Given the description of an element on the screen output the (x, y) to click on. 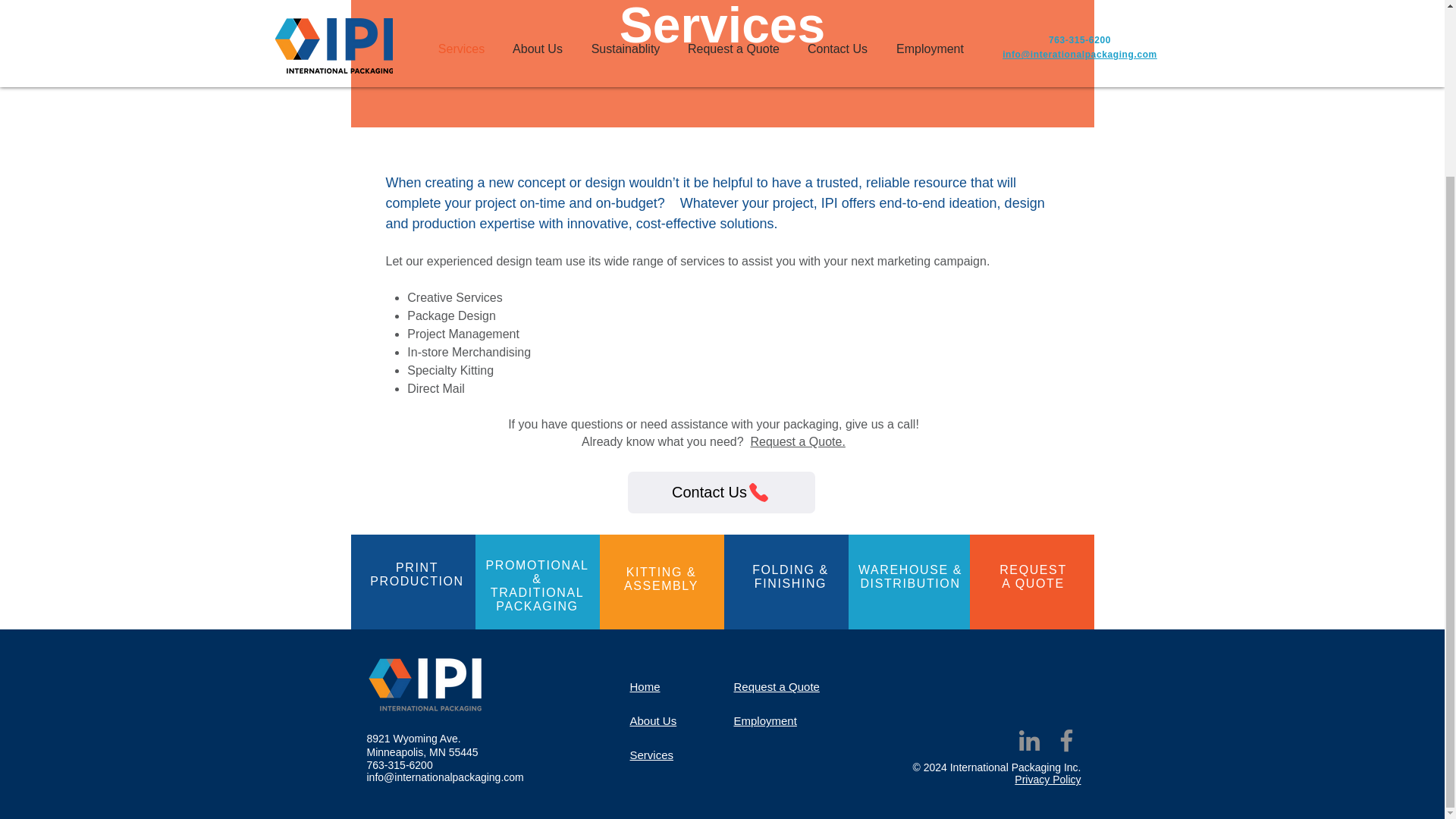
Contact Us (721, 492)
Request a Quote. (1032, 576)
